Given the description of an element on the screen output the (x, y) to click on. 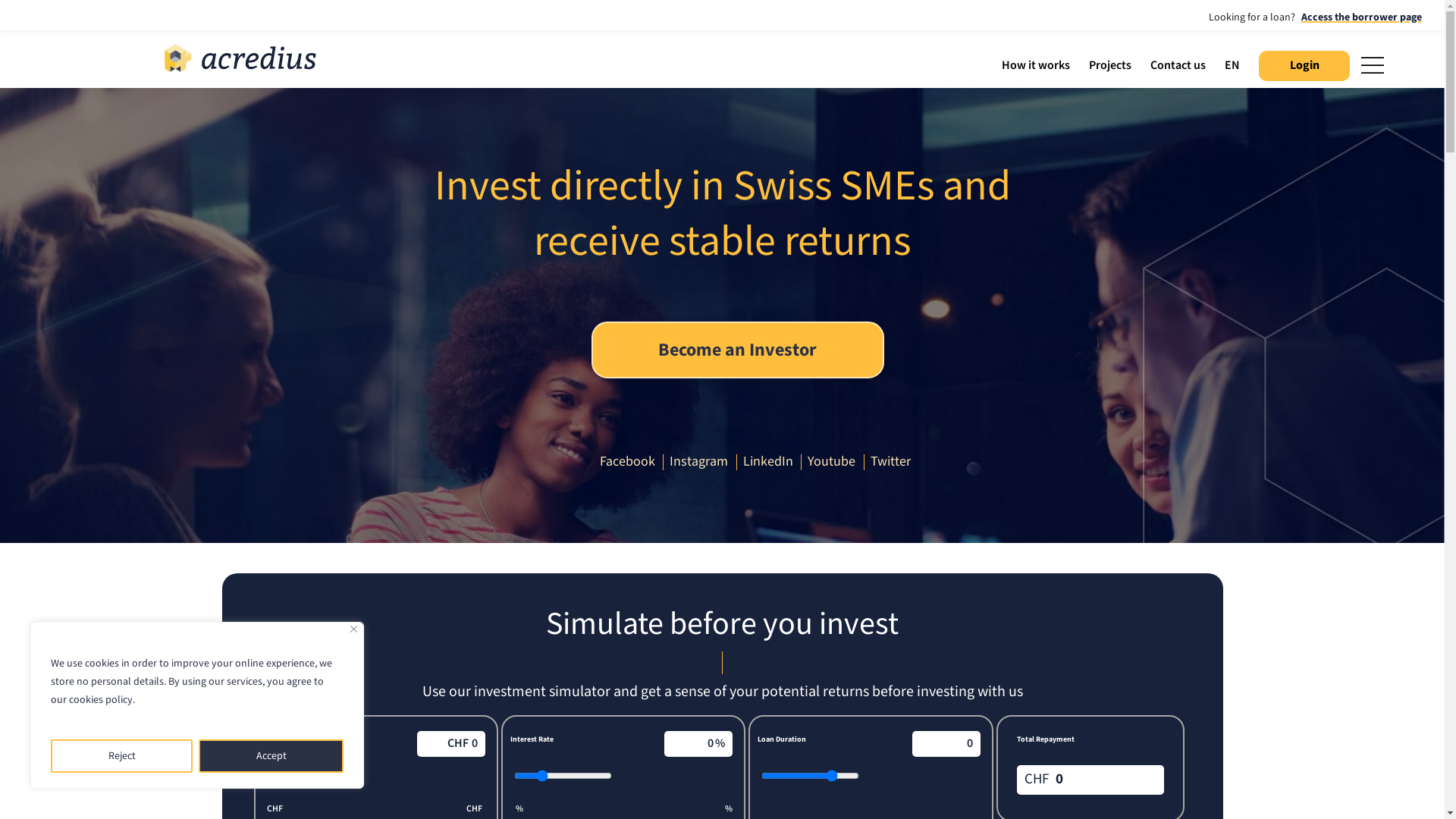
Login Element type: text (1303, 65)
Twitter Element type: text (892, 461)
Facebook Element type: text (628, 461)
Youtube Element type: text (833, 461)
Instagram Element type: text (700, 461)
EN Element type: text (1233, 65)
Projects Element type: text (1111, 65)
cookies policy Element type: text (100, 699)
Become an Investor Element type: text (737, 349)
How it works Element type: text (1037, 65)
LinkedIn Element type: text (770, 461)
Contact us Element type: text (1179, 65)
Reject Element type: text (121, 755)
Accept Element type: text (270, 755)
Access the borrower page Element type: text (1359, 17)
